Given the description of an element on the screen output the (x, y) to click on. 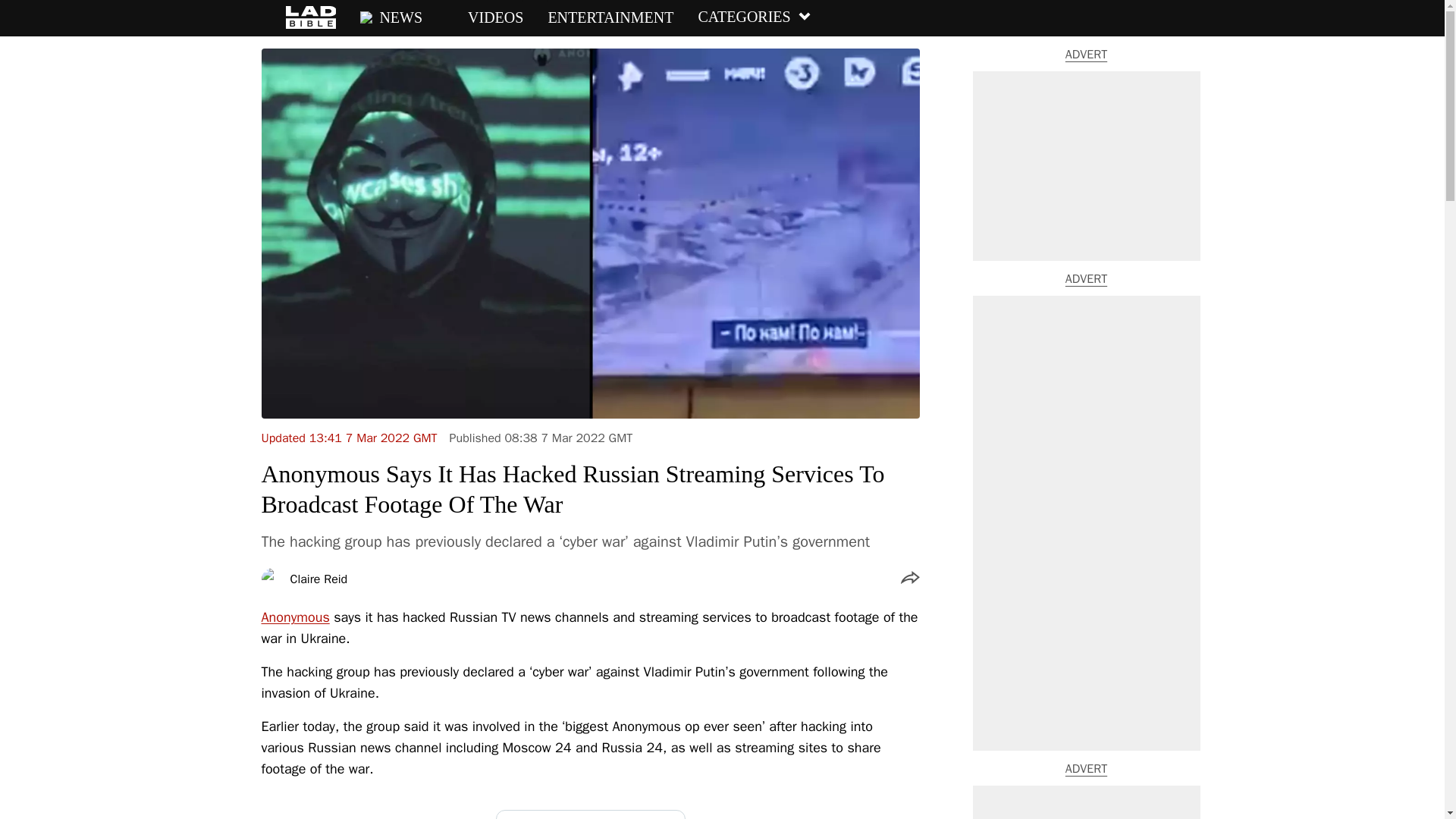
NEWS (390, 17)
ENTERTAINMENT (609, 17)
VIDEOS (484, 17)
CATEGORIES (753, 17)
